Given the description of an element on the screen output the (x, y) to click on. 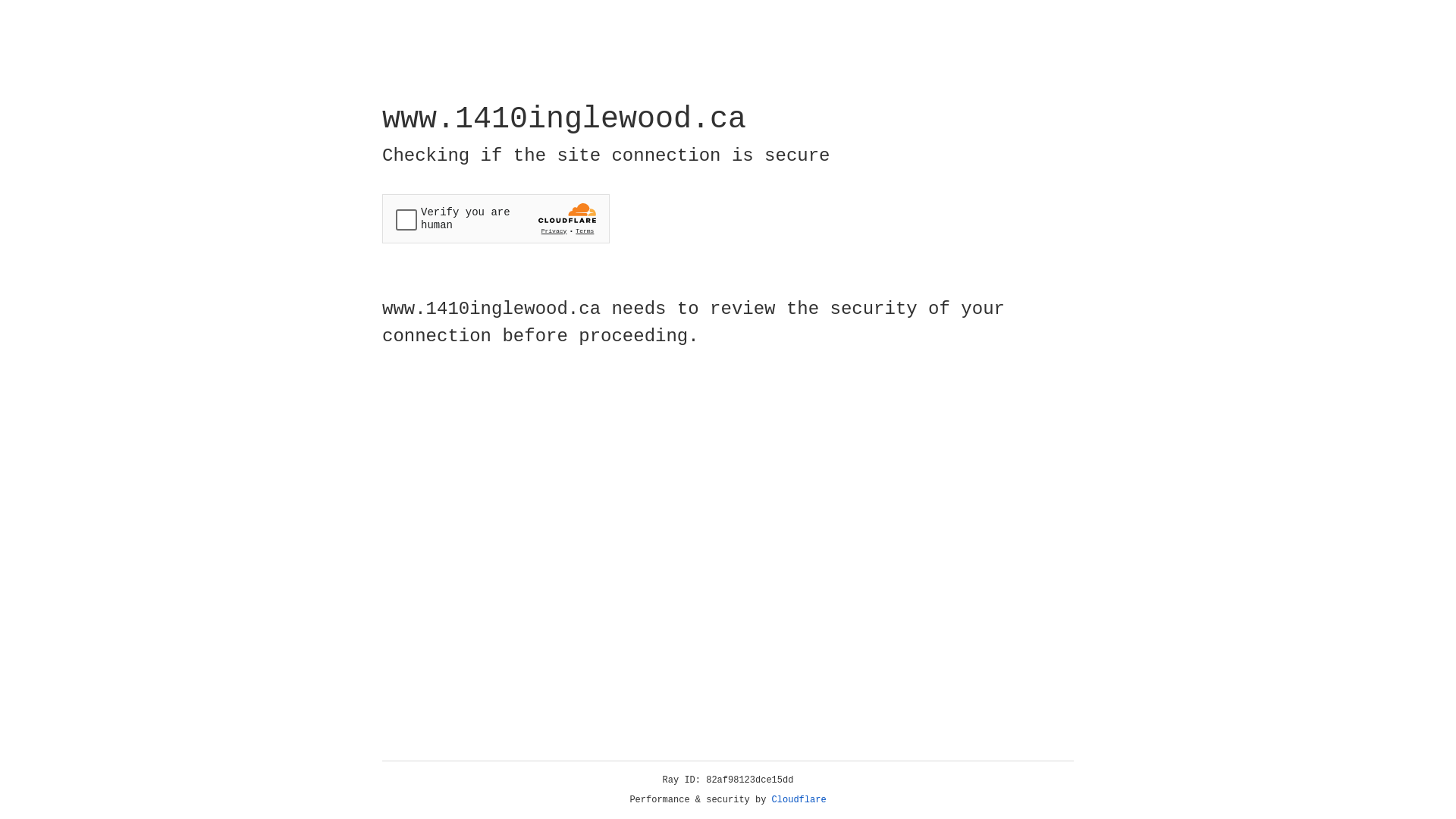
Widget containing a Cloudflare security challenge Element type: hover (495, 218)
Cloudflare Element type: text (798, 799)
